Given the description of an element on the screen output the (x, y) to click on. 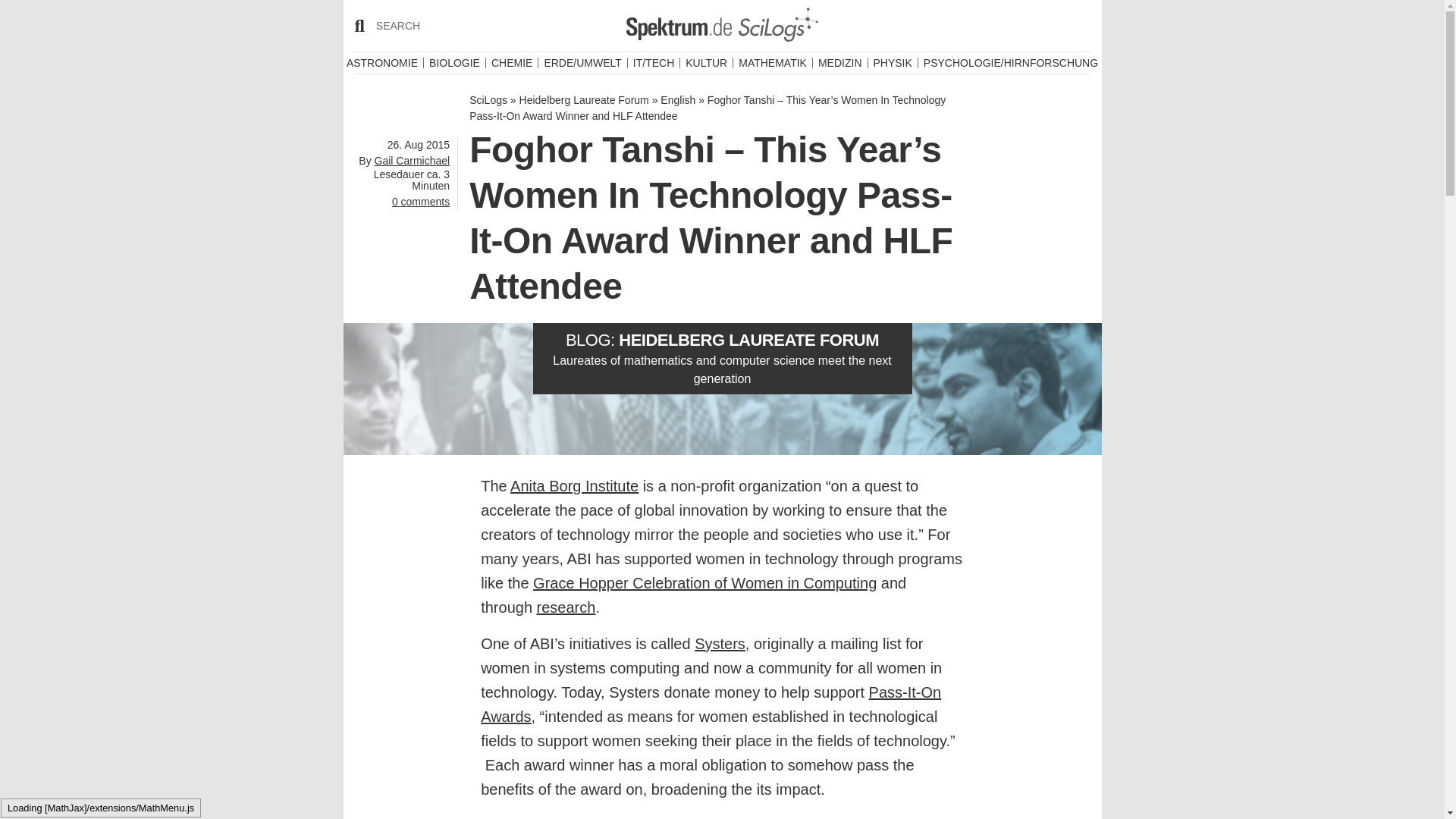
Heidelberg Laureate Forum (777, 24)
Spektrum.de (679, 27)
BIOLOGIE (454, 62)
Search (379, 18)
Go to Heidelberg Laureate Forum. (584, 100)
Go to the English category archives. (678, 100)
CHEMIE (512, 62)
ASTRONOMIE (381, 62)
Go to SciLogs. (487, 100)
